Given the description of an element on the screen output the (x, y) to click on. 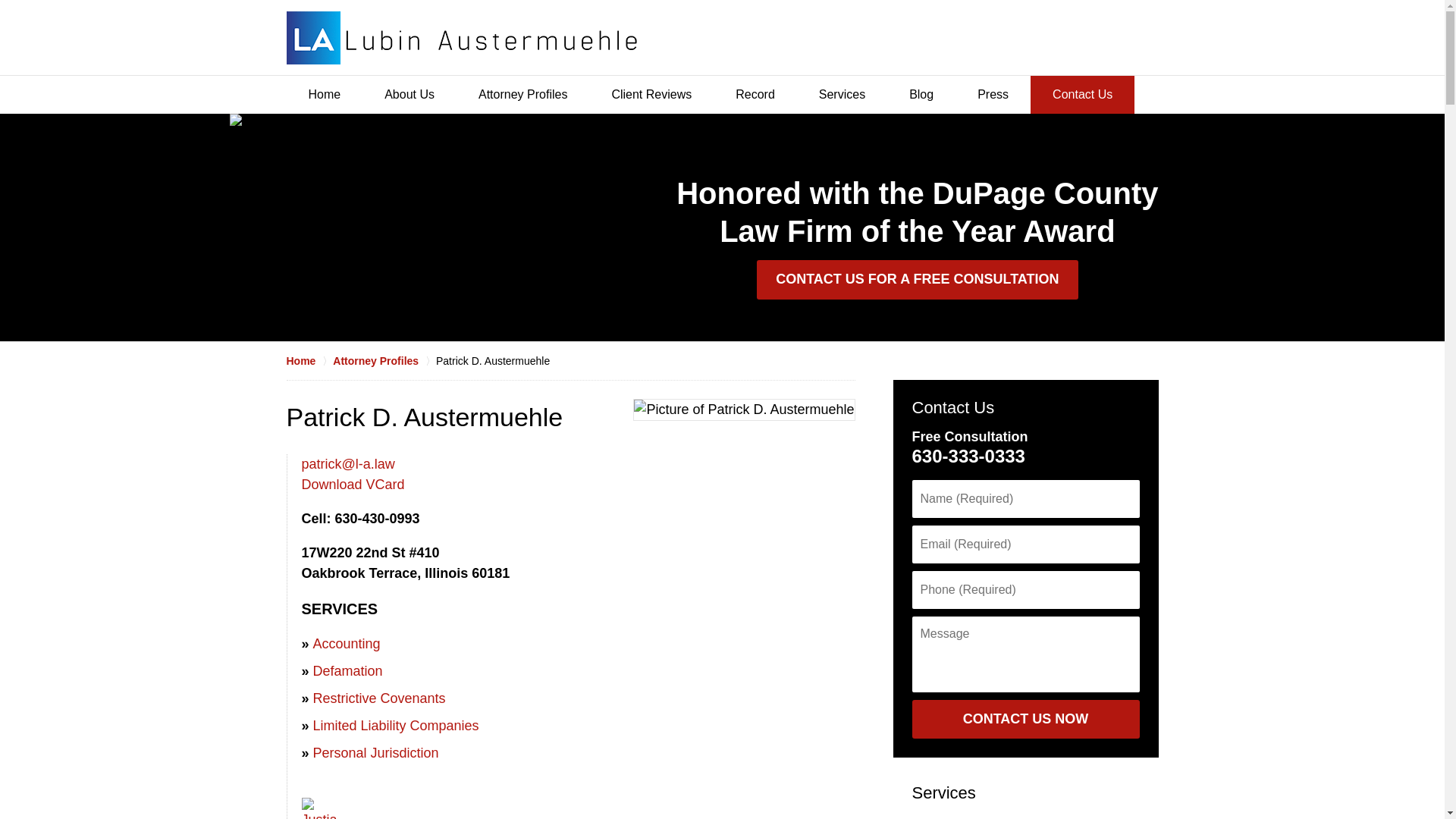
Press (992, 94)
Back to Home (461, 37)
Defamation (347, 670)
Contact Us (952, 407)
Home (309, 360)
Accounting (944, 818)
Restrictive Covenants (379, 698)
Attorney Profiles (384, 360)
About Us (409, 94)
CONTACT US NOW (1024, 719)
Blog (920, 94)
Services (943, 792)
Record (754, 94)
Accounting (346, 643)
CONTACT US FOR A FREE CONSULTATION (917, 279)
